Given the description of an element on the screen output the (x, y) to click on. 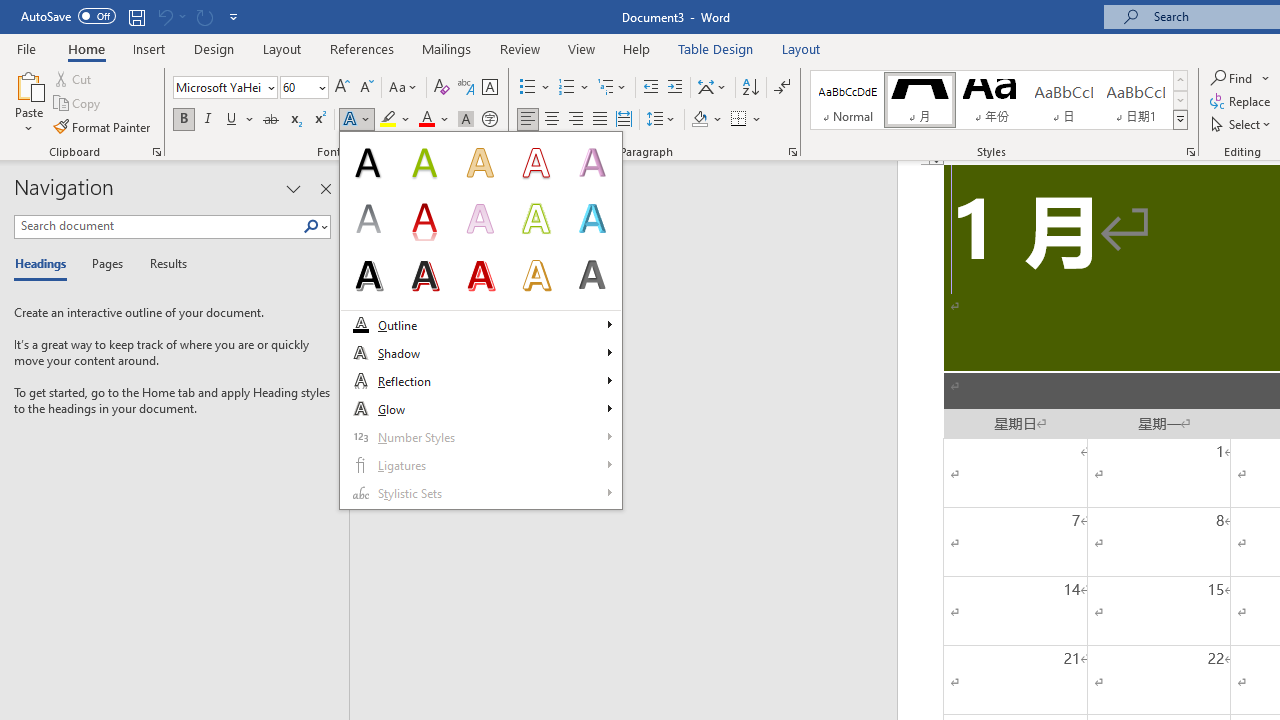
Can't Repeat (204, 15)
